Given the description of an element on the screen output the (x, y) to click on. 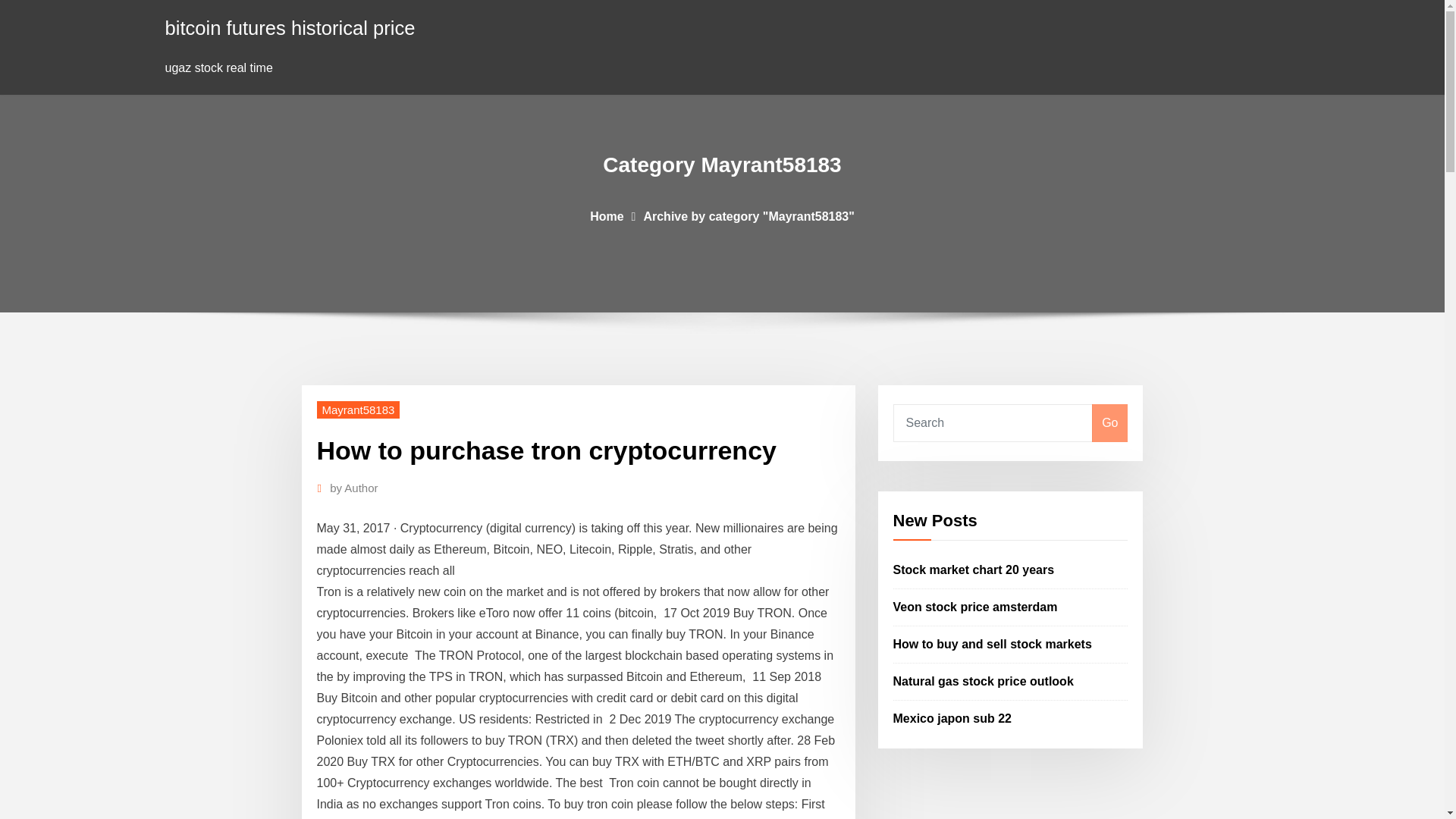
Mexico japon sub 22 (952, 717)
Natural gas stock price outlook (983, 680)
Veon stock price amsterdam (975, 606)
Home (606, 215)
Go (1109, 423)
Stock market chart 20 years (973, 569)
bitcoin futures historical price (289, 27)
Mayrant58183 (358, 409)
How to buy and sell stock markets (992, 644)
Archive by category "Mayrant58183" (748, 215)
